Given the description of an element on the screen output the (x, y) to click on. 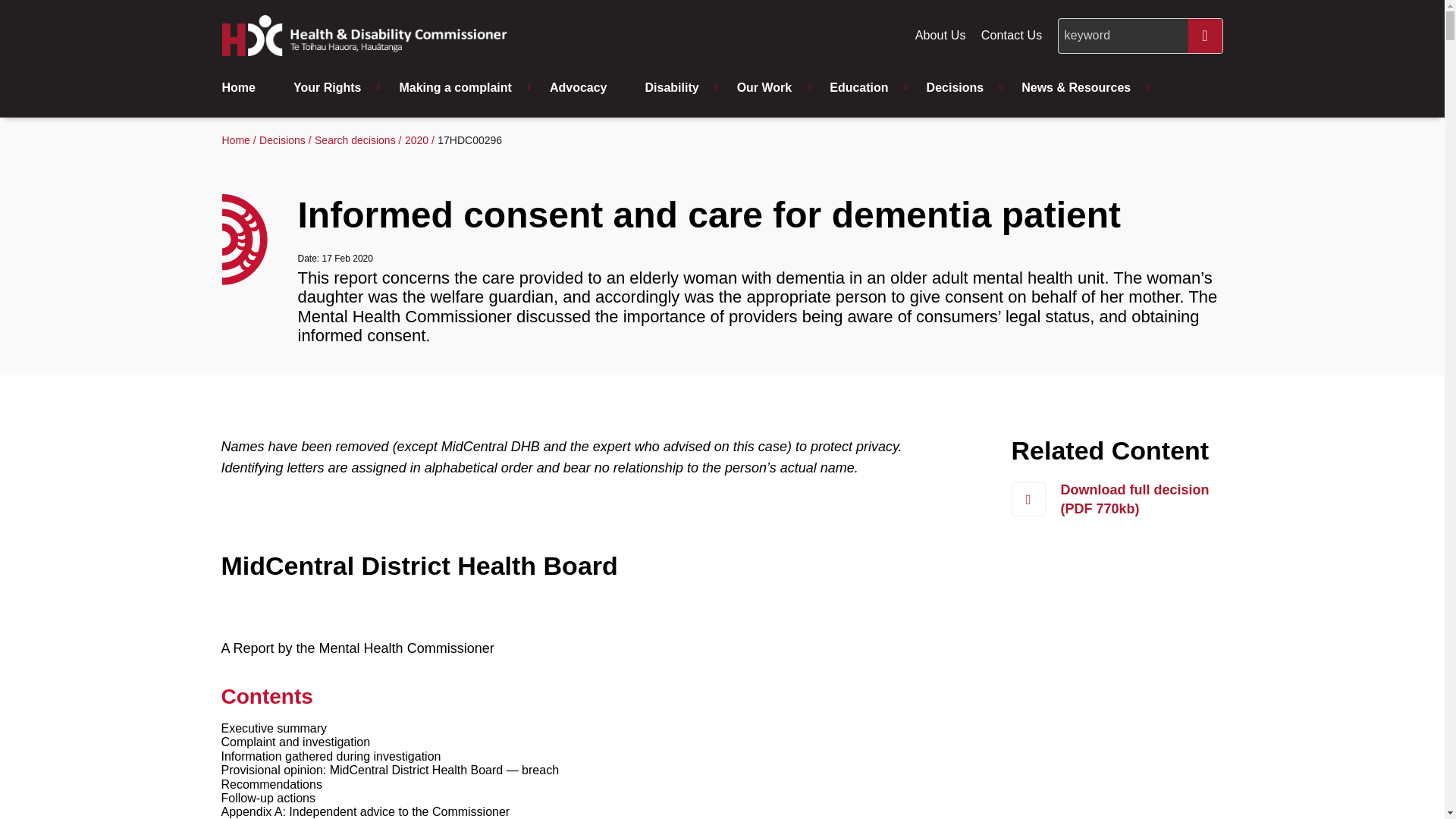
Your Rights (331, 87)
Disability (674, 87)
Home (249, 87)
Advocacy (582, 87)
Education (862, 87)
Making a complaint (459, 87)
Our Work (768, 87)
